Given the description of an element on the screen output the (x, y) to click on. 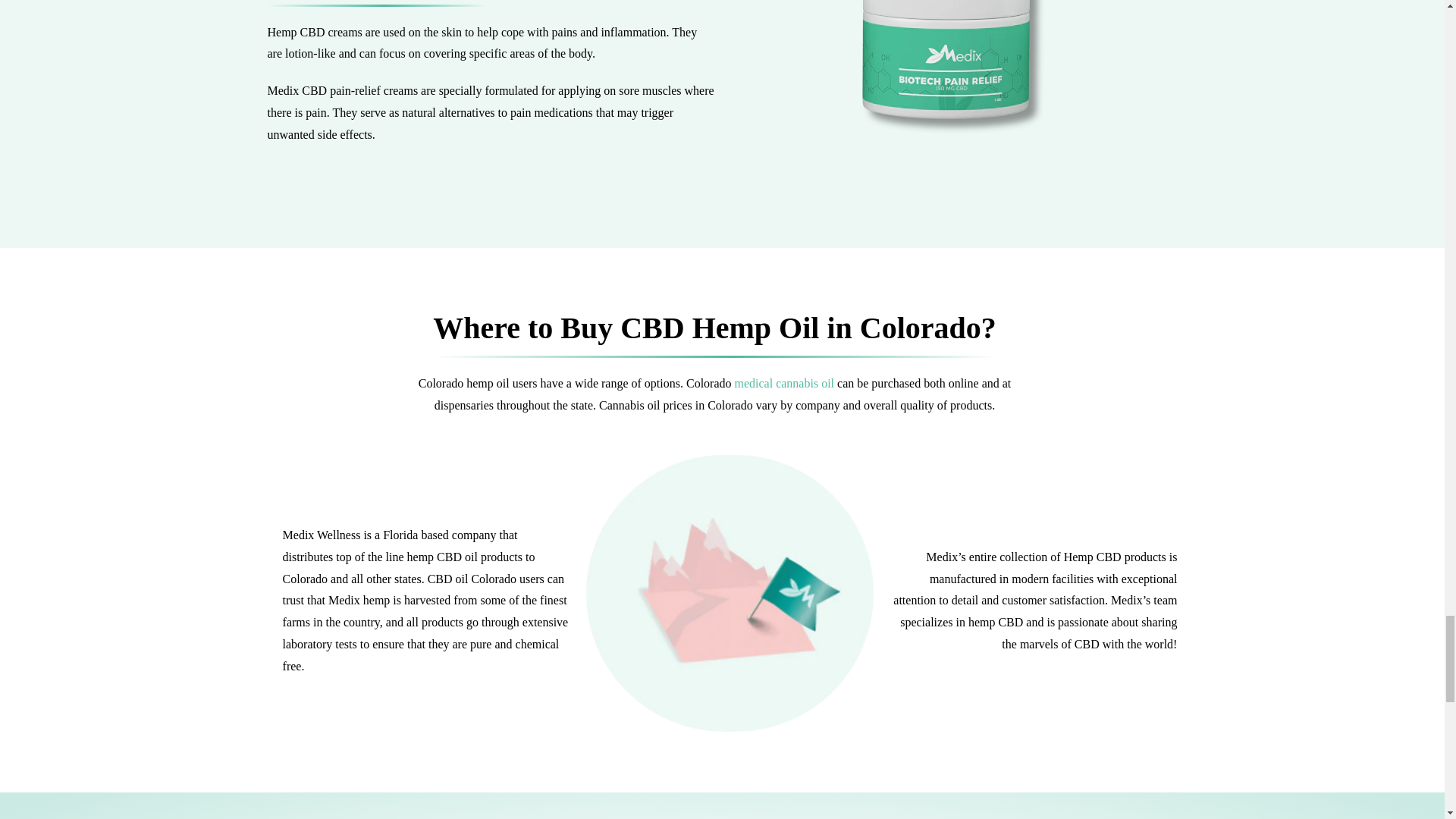
CBD Oils (784, 382)
